Given the description of an element on the screen output the (x, y) to click on. 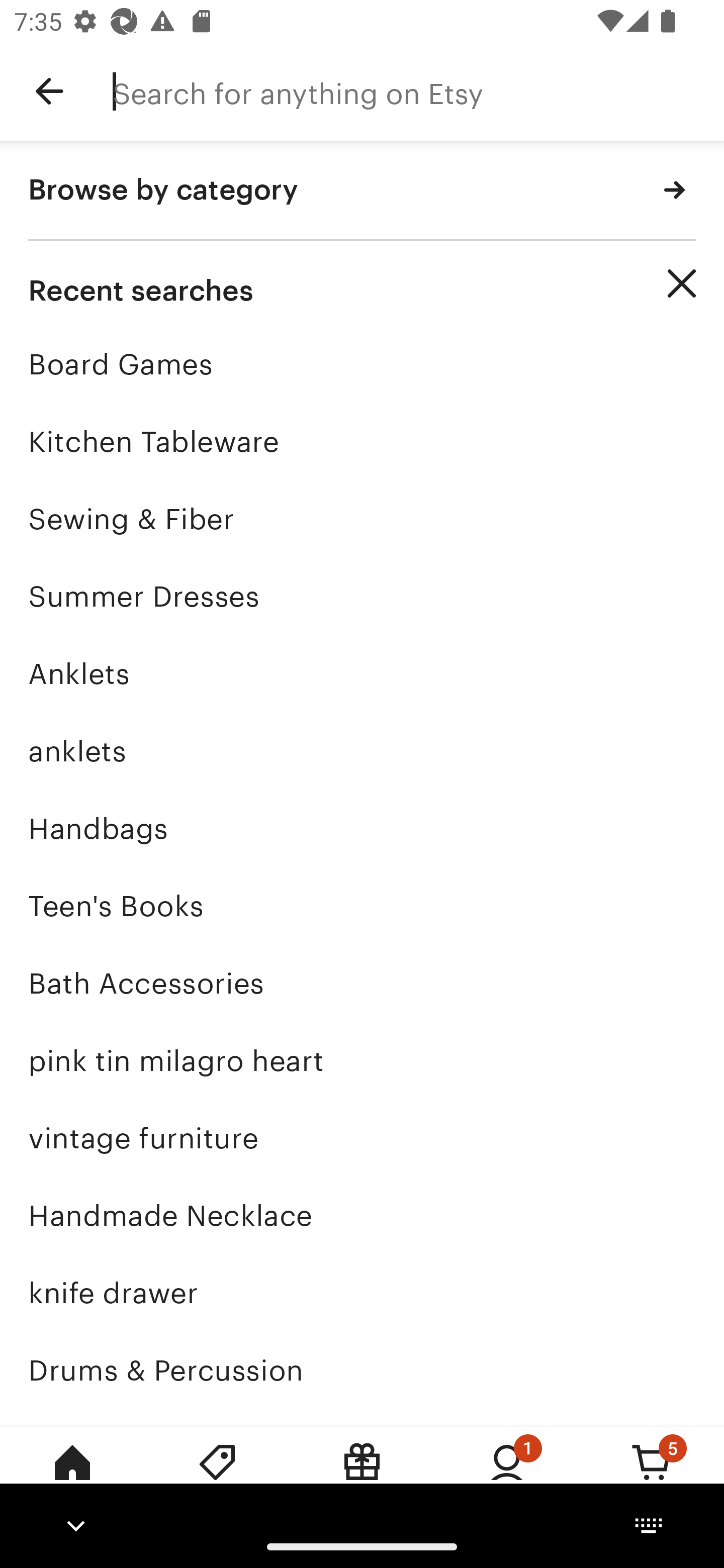
Navigate up (49, 91)
Search for anything on Etsy (418, 91)
Browse by category (362, 191)
Clear (681, 283)
Board Games (362, 364)
Kitchen Tableware (362, 440)
Sewing & Fiber (362, 518)
Summer Dresses (362, 596)
Anklets (362, 673)
anklets (362, 750)
Handbags (362, 828)
Teen's Books (362, 906)
Bath Accessories (362, 983)
pink tin milagro heart (362, 1060)
vintage furniture (362, 1138)
Handmade Necklace (362, 1215)
knife drawer (362, 1292)
Drums & Percussion (362, 1370)
Deals (216, 1475)
Gift Mode (361, 1475)
You, 1 new notification (506, 1475)
Cart, 5 new notifications (651, 1475)
